Given the description of an element on the screen output the (x, y) to click on. 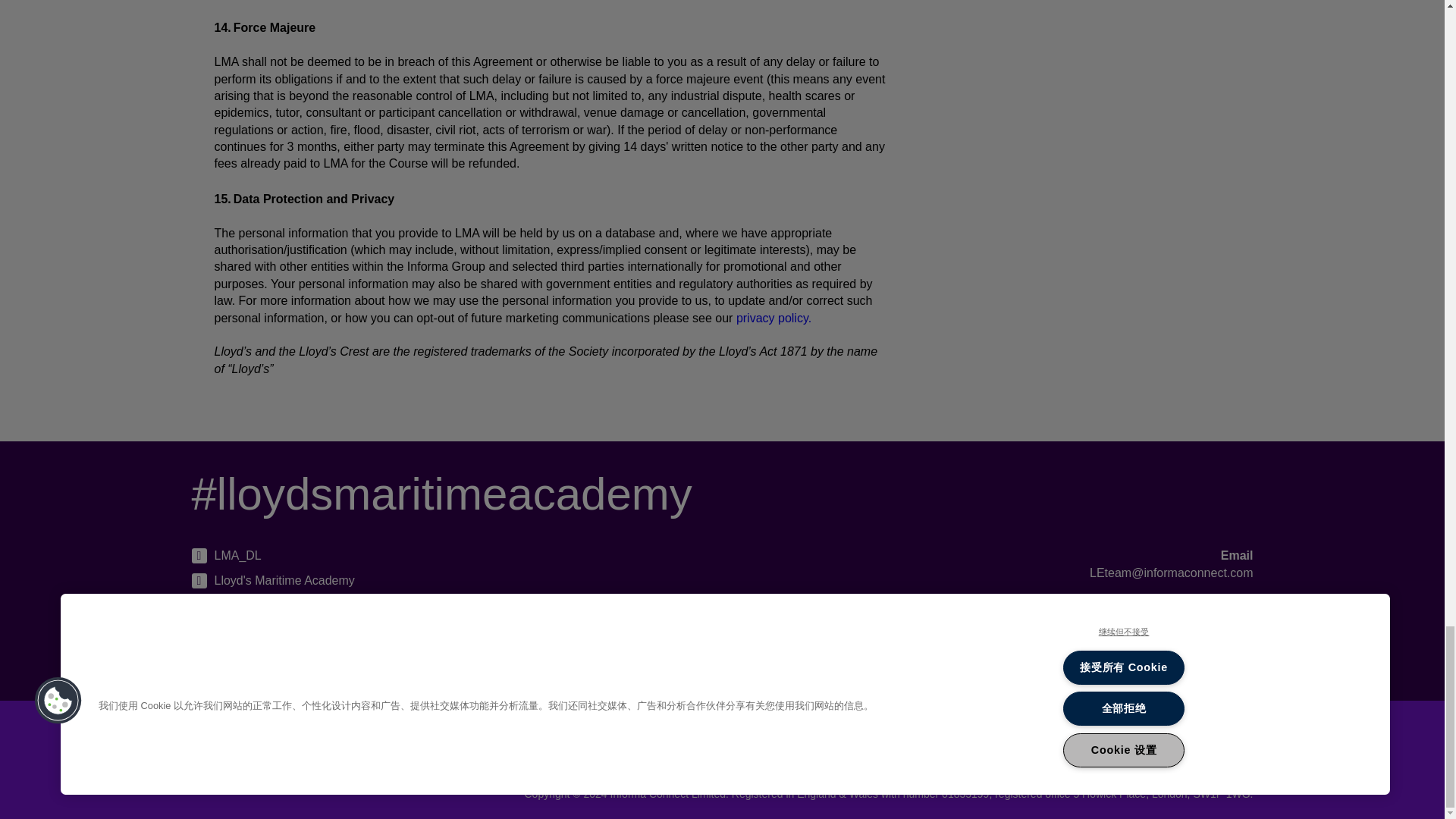
CCPA: Do not sell my personal info (1150, 741)
Lloydsmaritimeacademy (267, 605)
Lloyd's Maritime Academy (271, 629)
privacy policy. (773, 318)
Lloyd's Maritime Academy - Distance Learning (326, 654)
Terms of Use (877, 741)
Contact (754, 741)
Home (703, 741)
Lloyd's Maritime Academy (271, 580)
Privacy (807, 741)
